Given the description of an element on the screen output the (x, y) to click on. 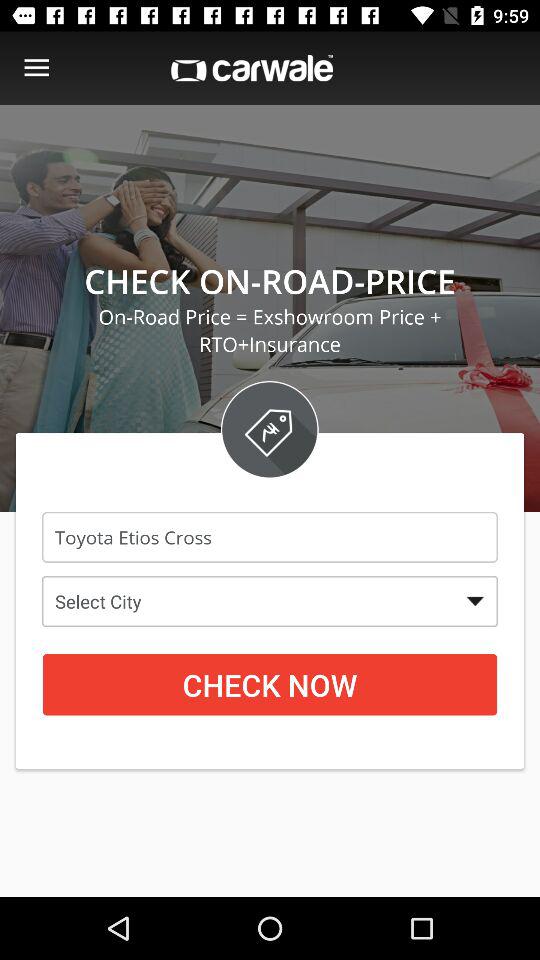
menu options (36, 68)
